Given the description of an element on the screen output the (x, y) to click on. 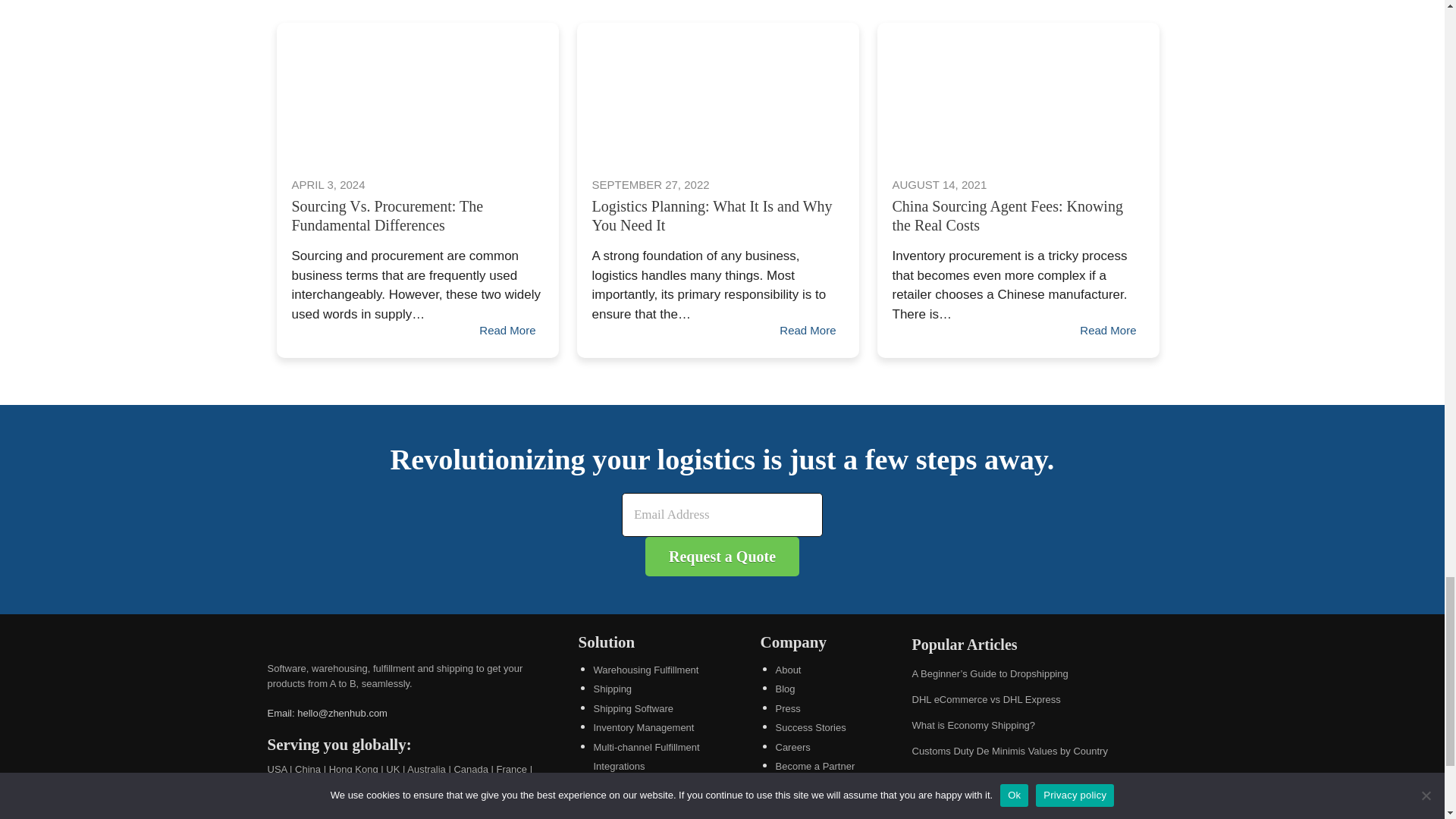
Sourcing Vs. Procurement: The Fundamental Differences (416, 91)
China Sourcing Agent Fees: Knowing the Real Costs (1017, 91)
Request a Quote (722, 556)
Logistics Planning: What It Is and Why You Need It (717, 91)
